Given the description of an element on the screen output the (x, y) to click on. 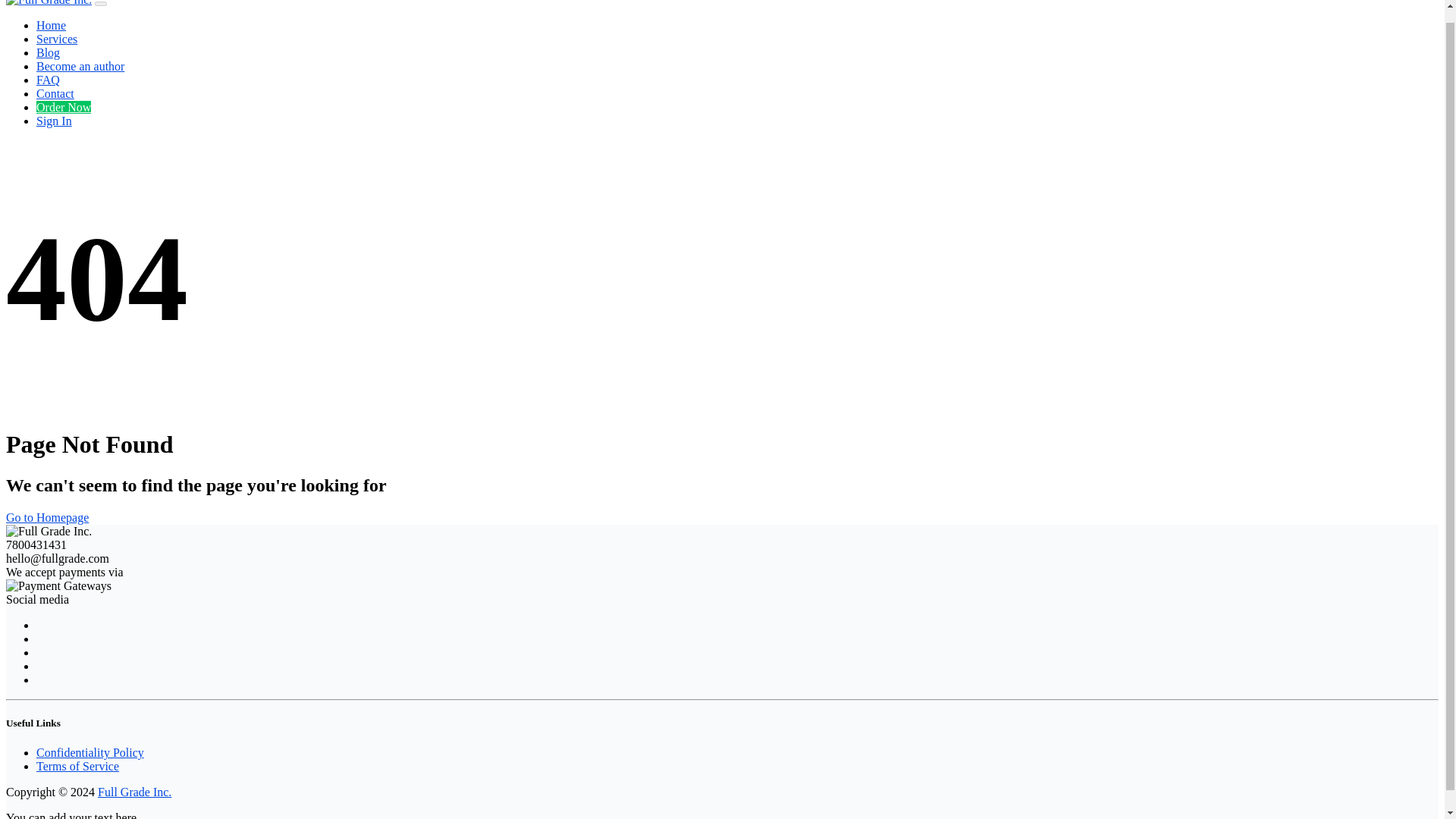
Payment Gateways (58, 585)
Terms of Service (77, 766)
Services (56, 38)
Home (50, 24)
FAQ (47, 79)
Order Now (63, 106)
Become an author (79, 65)
Go to Homepage (46, 517)
Sign In (53, 120)
Blog (47, 51)
Full Grade Inc. (134, 791)
Contact (55, 92)
Confidentiality Policy (90, 752)
